Given the description of an element on the screen output the (x, y) to click on. 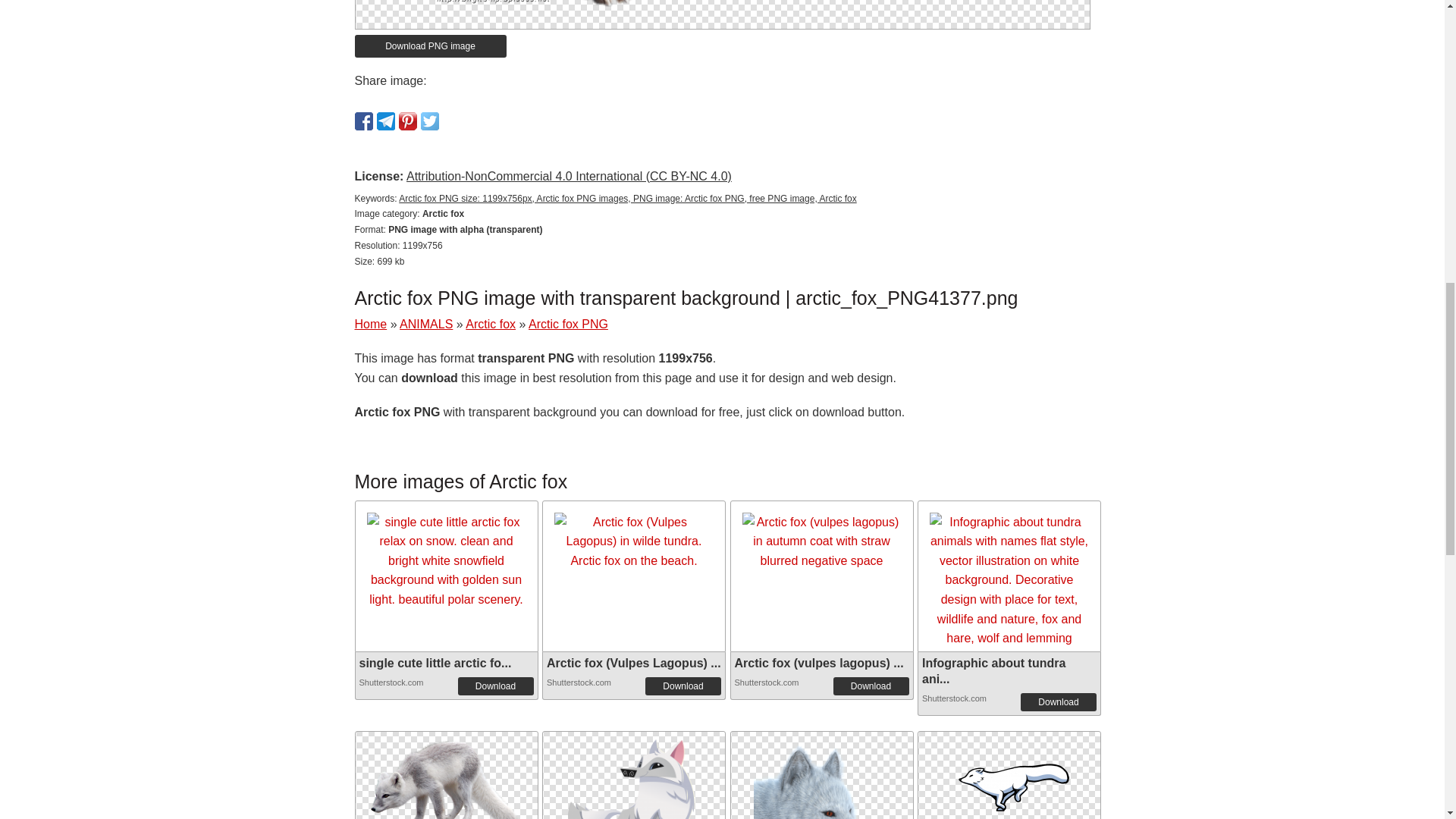
ANIMALS (425, 323)
Arctic fox PNG (568, 323)
Share in Telegram (384, 121)
Arctic fox PNG (445, 780)
Arctic fox PNG (633, 802)
Home (371, 323)
Share in Facebook (363, 121)
Download (496, 686)
Pin (407, 121)
Download (870, 686)
Download (1058, 701)
Arctic fox PNG (633, 775)
single cute little arctic fo... (435, 662)
